Given the description of an element on the screen output the (x, y) to click on. 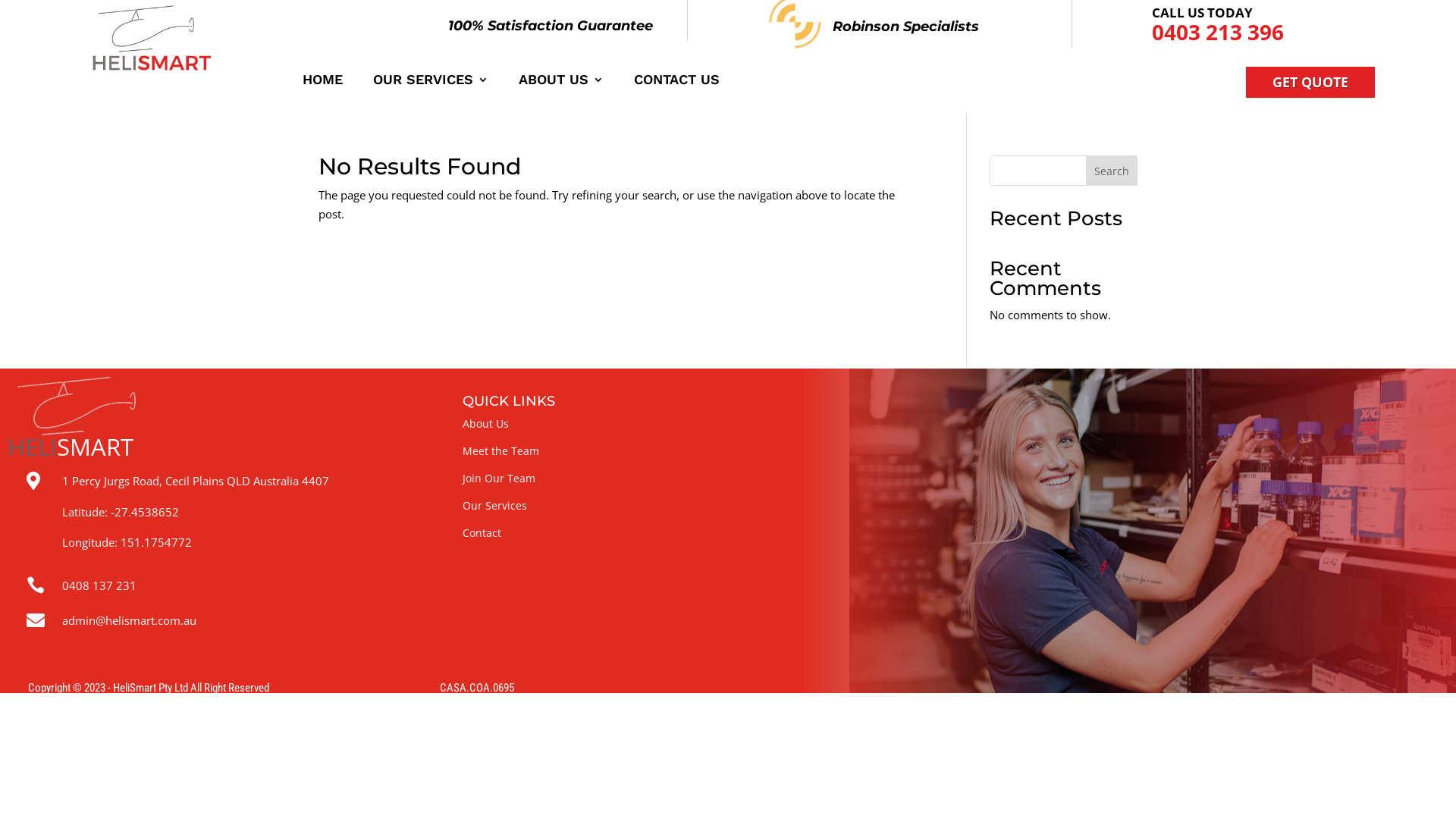
Our Services Element type: text (494, 505)
0403 213 396 Element type: text (1217, 30)
CONTACT US Element type: text (676, 87)
ABOUT US Element type: text (560, 87)
Join Our Team Element type: text (498, 477)
GET QUOTE Element type: text (1309, 81)
ABOUT US Element type: text (1237, 33)
Search Element type: text (1111, 170)
helismart-logo Element type: hover (152, 37)
OUR SERVICES Element type: text (1111, 33)
HOME Element type: text (322, 87)
Contact Element type: text (481, 532)
Meet the Team Element type: text (500, 450)
HOME Element type: text (1008, 33)
CONTACT US Element type: text (1349, 33)
About Us Element type: text (485, 423)
OUR SERVICES Element type: text (430, 87)
admin@helismart.com.au Element type: text (129, 619)
0408 137 231 Element type: text (99, 585)
